Given the description of an element on the screen output the (x, y) to click on. 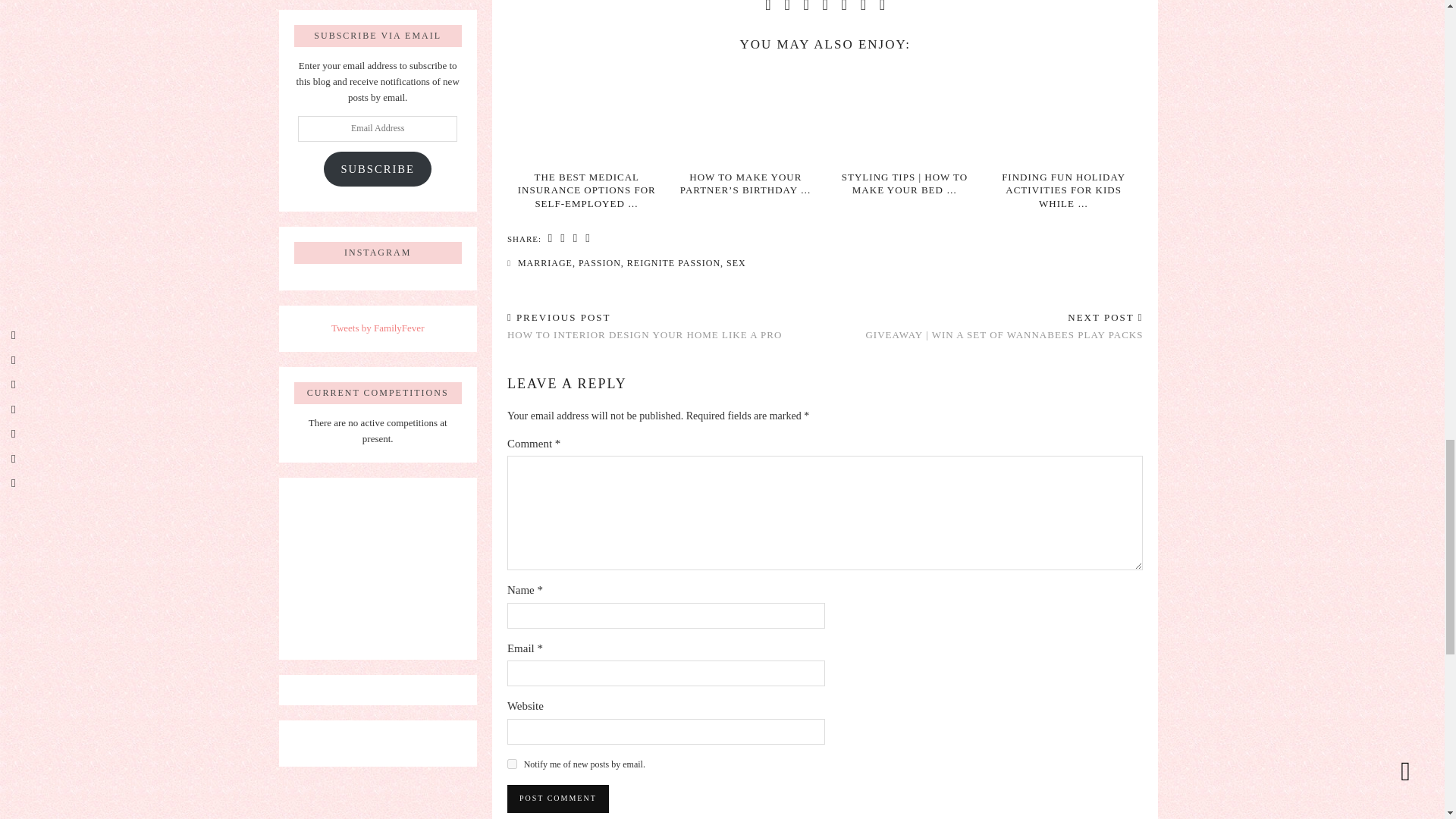
Share on Facebook (550, 238)
subscribe (511, 764)
Share on Pinterest (574, 238)
Share on Twitter (562, 238)
Post Comment (557, 798)
